Given the description of an element on the screen output the (x, y) to click on. 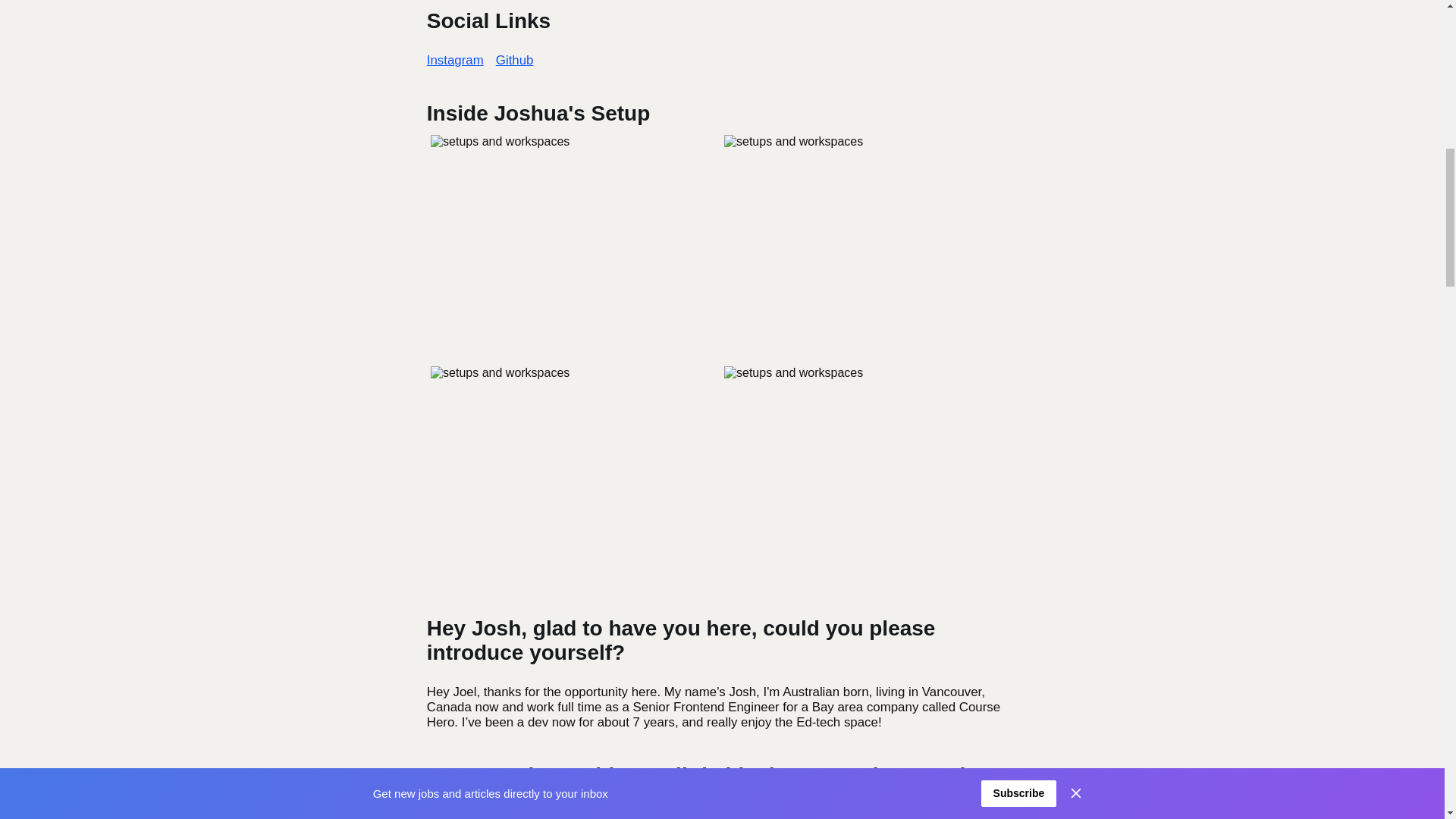
Github (515, 60)
Instagram (454, 60)
